Given the description of an element on the screen output the (x, y) to click on. 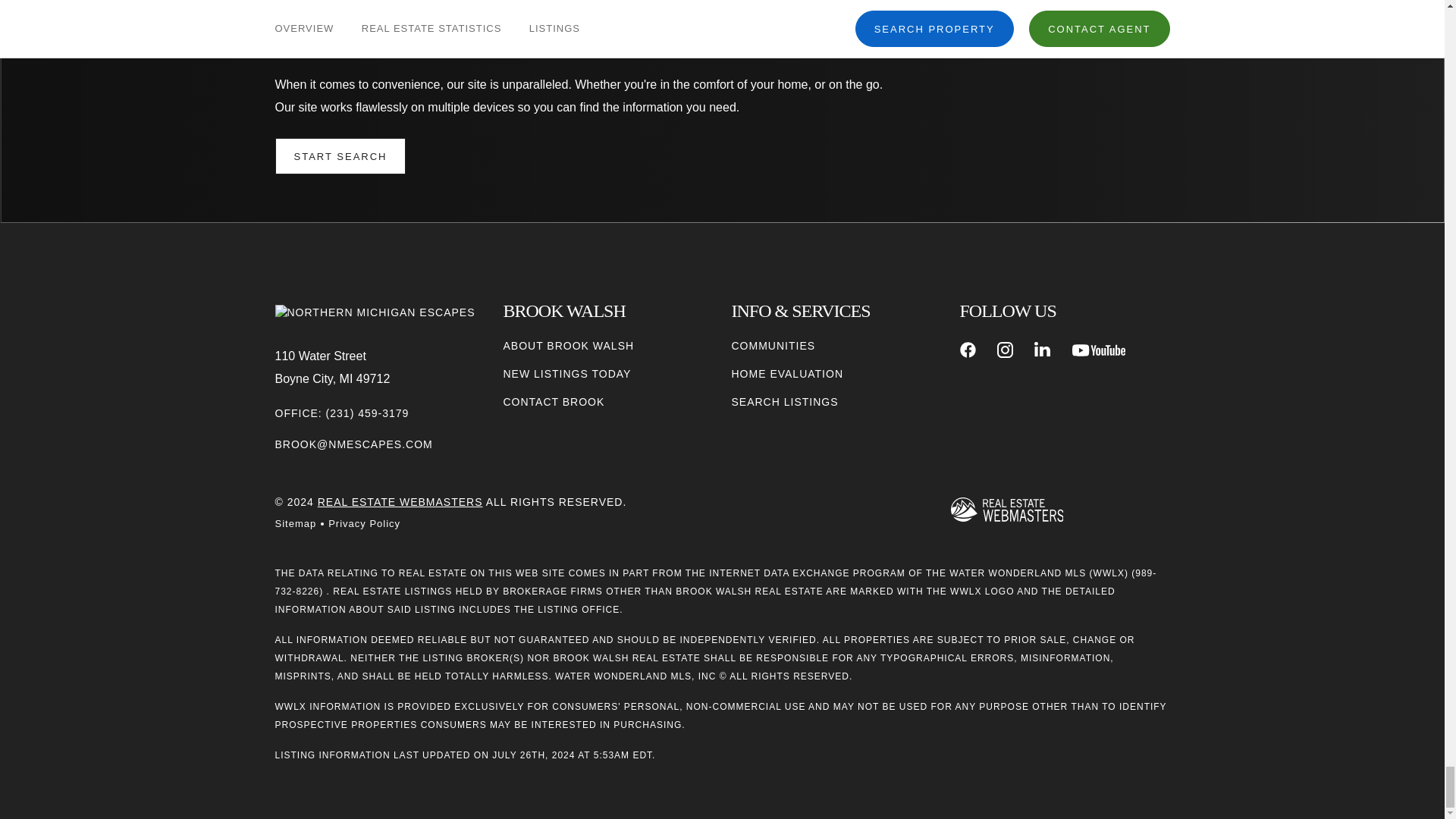
LINKEDIN (1041, 349)
FACEBOOK (967, 349)
YOUTUBE (1098, 350)
